Given the description of an element on the screen output the (x, y) to click on. 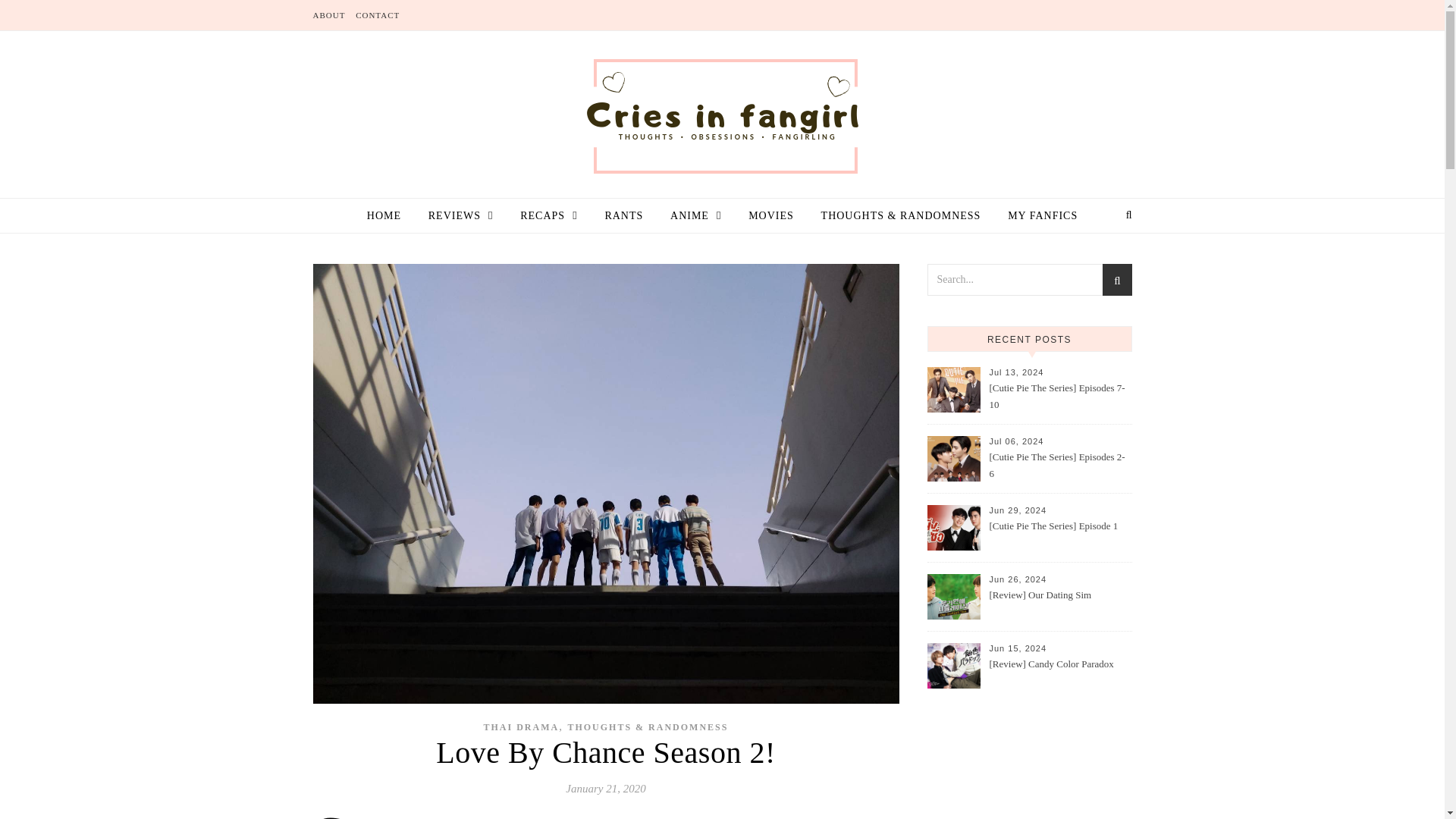
Advertisement (1028, 775)
ABOUT (331, 15)
CONTACT (375, 15)
HOME (389, 215)
REVIEWS (460, 215)
